Given the description of an element on the screen output the (x, y) to click on. 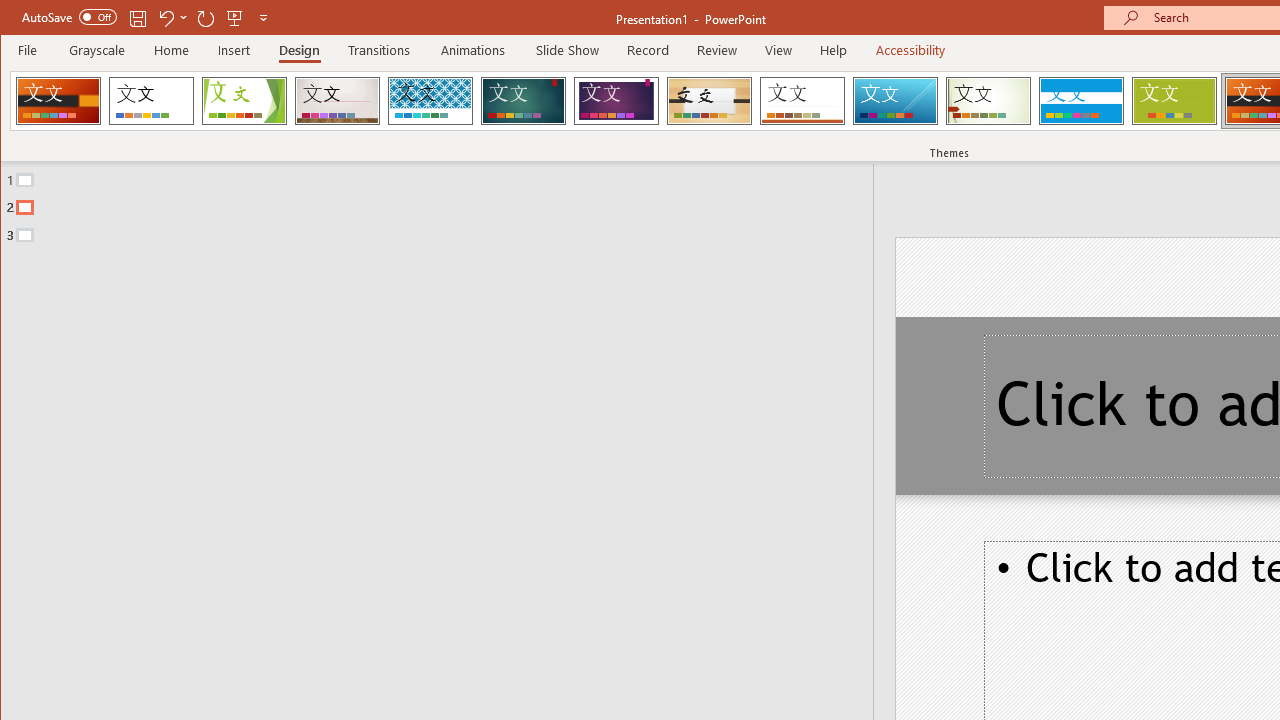
Organic (709, 100)
Slice (895, 100)
Ion Boardroom (616, 100)
